Given the description of an element on the screen output the (x, y) to click on. 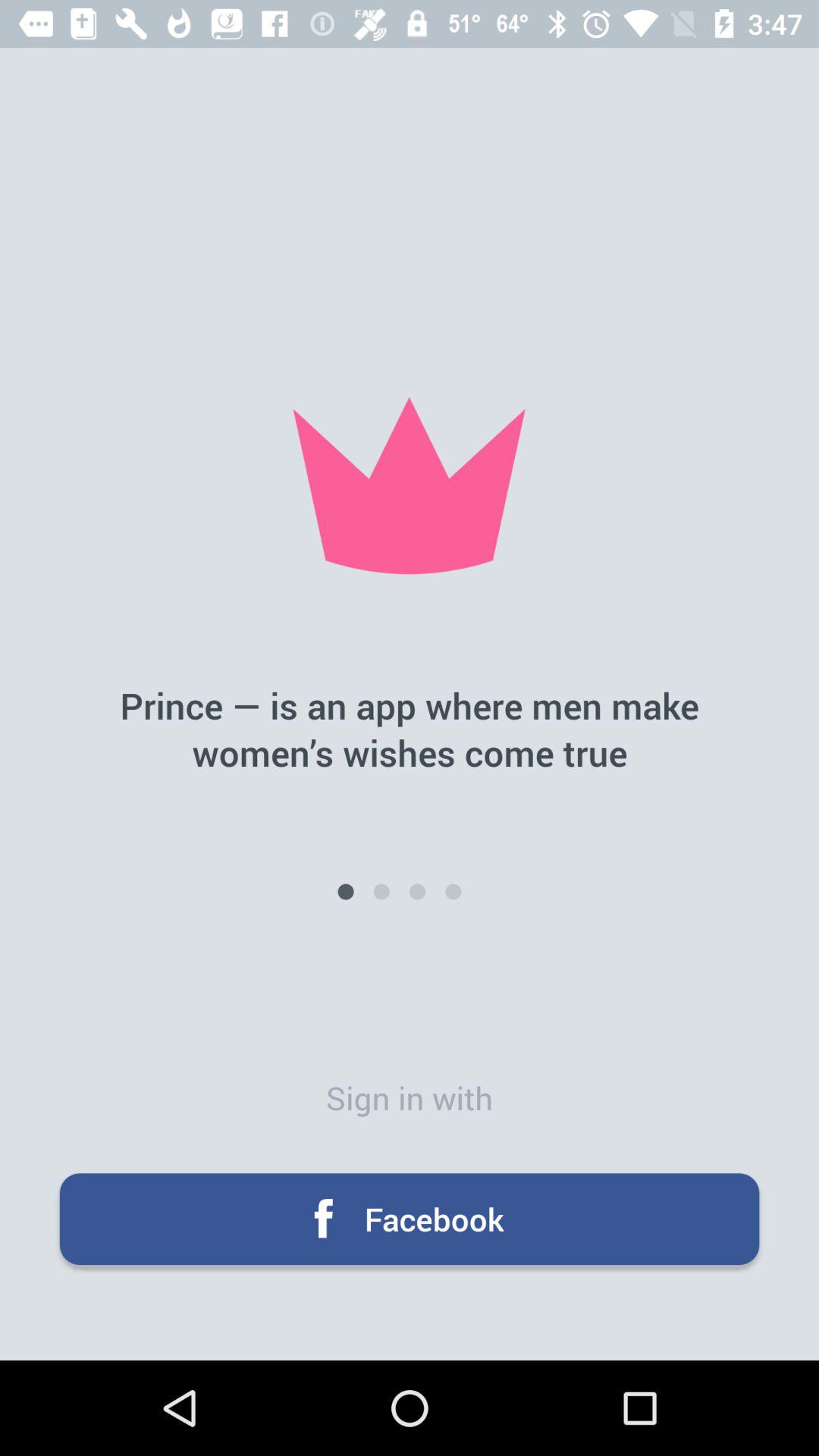
select the item below the prince is an (453, 891)
